Given the description of an element on the screen output the (x, y) to click on. 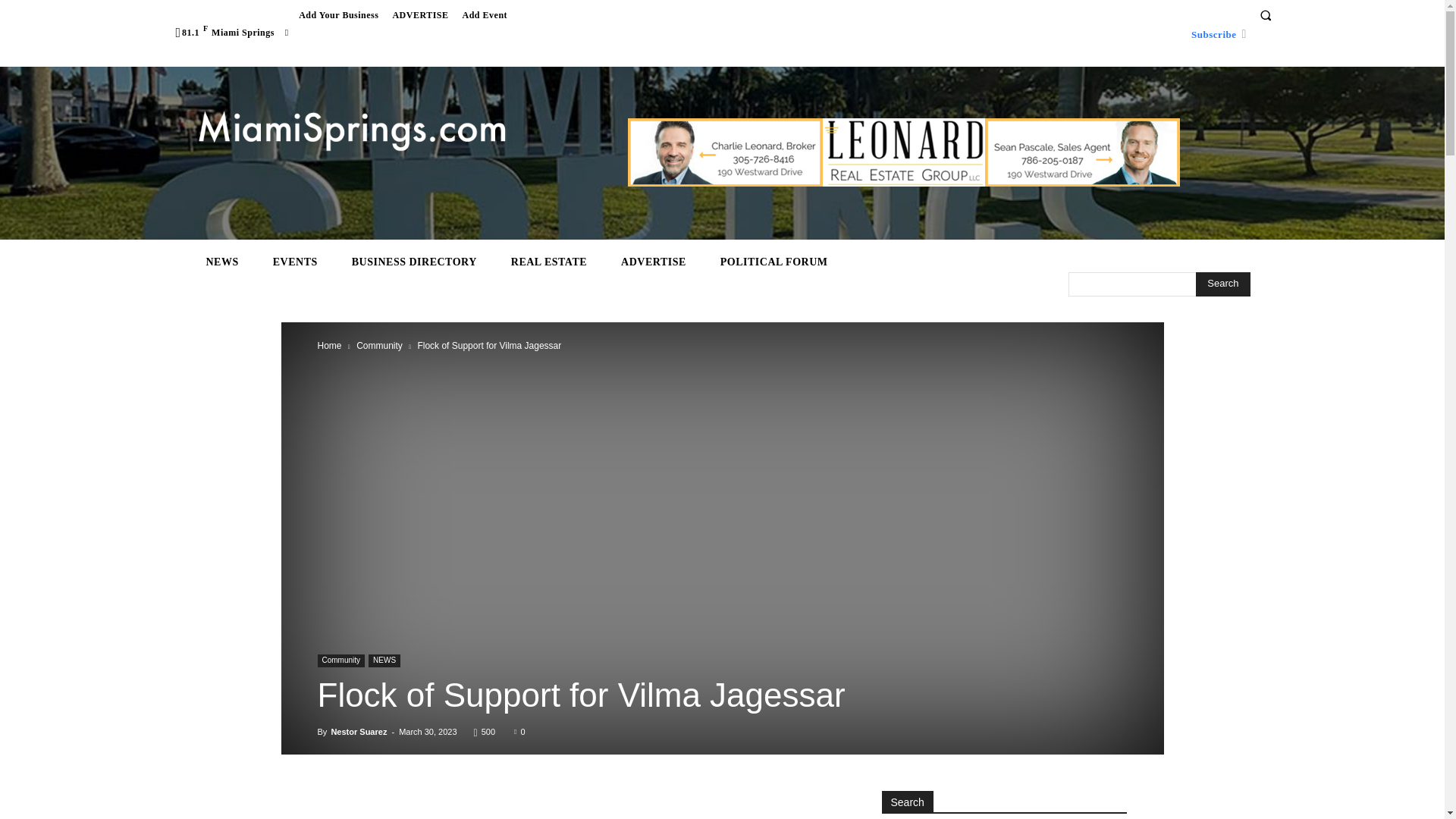
MiamiSprings.com (351, 131)
Subscribe (1213, 33)
